Given the description of an element on the screen output the (x, y) to click on. 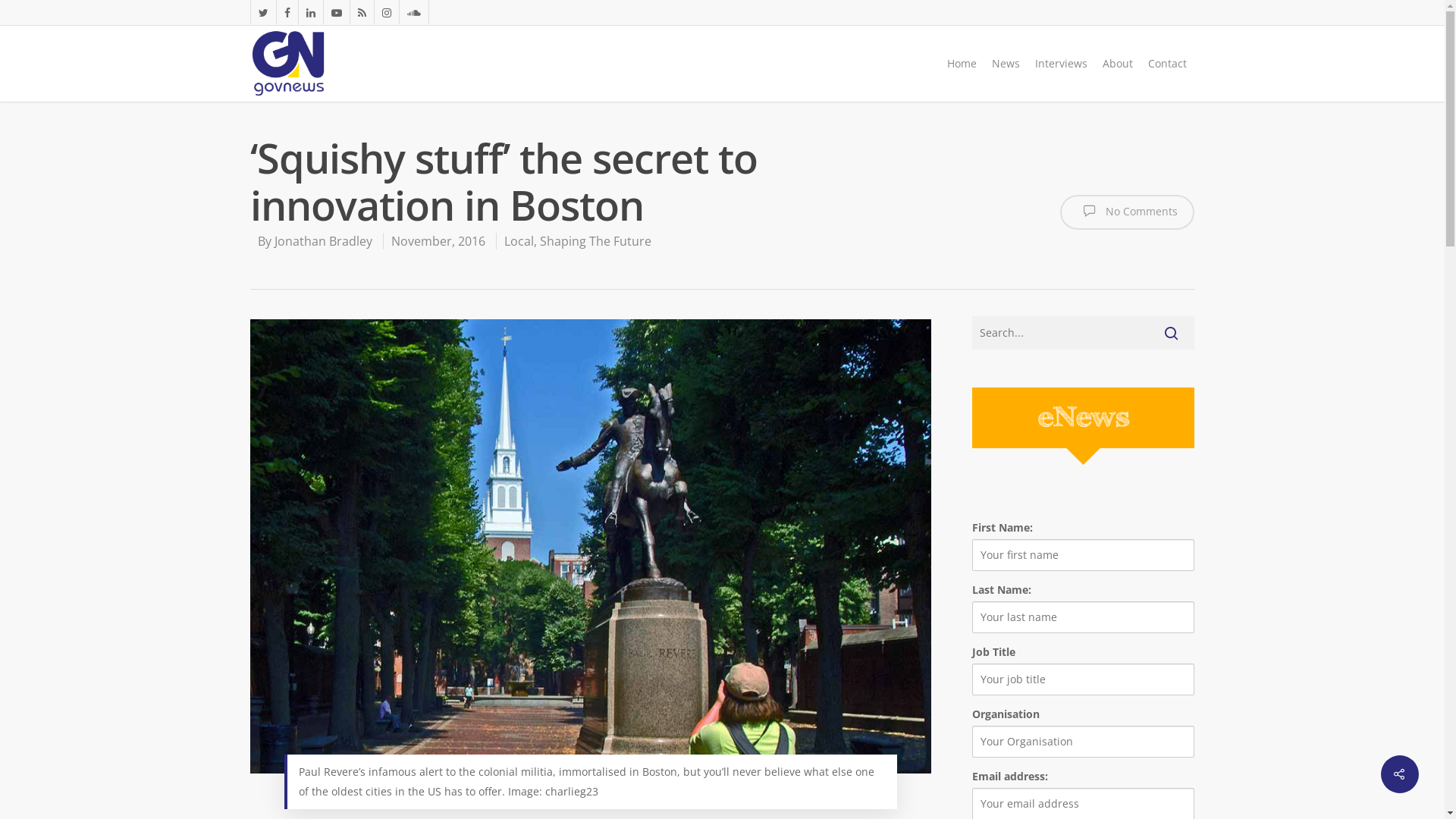
Contact Element type: text (1167, 63)
Local Element type: text (518, 240)
Jonathan Bradley Element type: text (323, 240)
Interviews Element type: text (1061, 63)
News Element type: text (1005, 63)
Home Element type: text (961, 63)
No Comments Element type: text (1127, 211)
About Element type: text (1117, 63)
Search for: Element type: hover (1083, 332)
Shaping The Future Element type: text (595, 240)
